Given the description of an element on the screen output the (x, y) to click on. 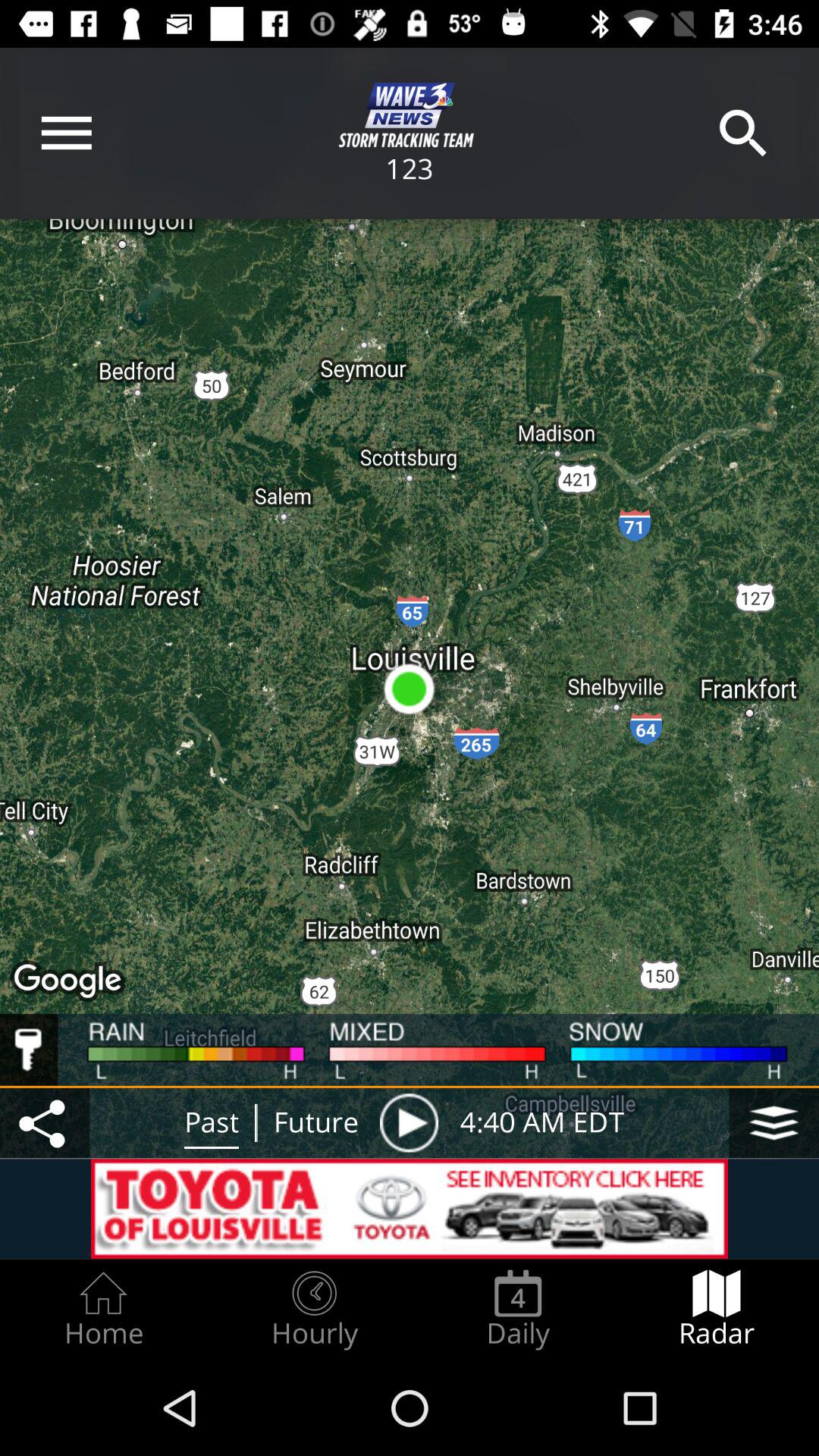
choose the icon to the left of the radar item (518, 1309)
